Given the description of an element on the screen output the (x, y) to click on. 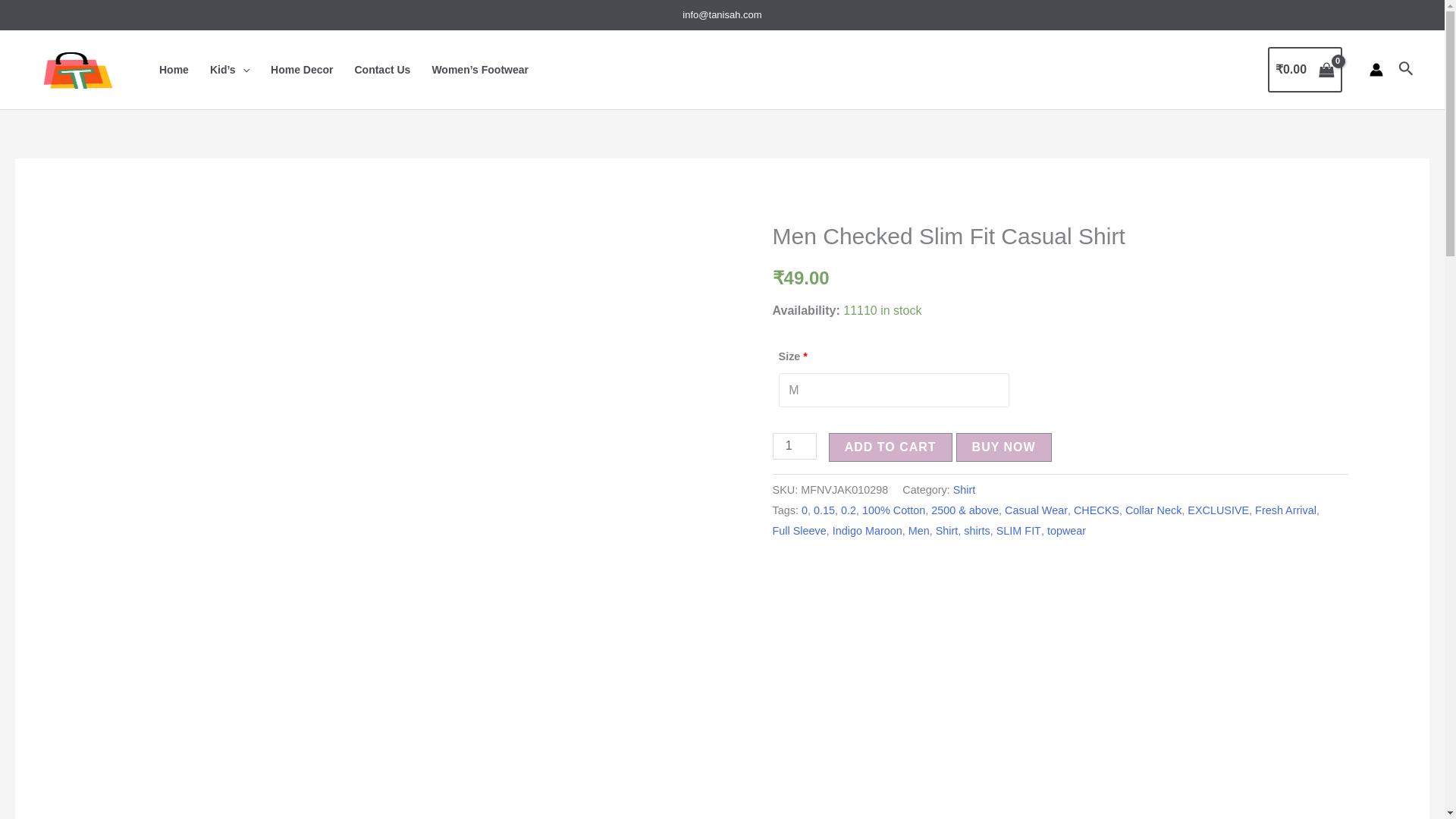
1 (794, 446)
0.15 (823, 510)
ADD TO CART (890, 447)
Contact Us (381, 69)
Home Decor (301, 69)
Shirt (964, 490)
com (751, 14)
BUY NOW (1003, 447)
0.2 (848, 510)
